Given the description of an element on the screen output the (x, y) to click on. 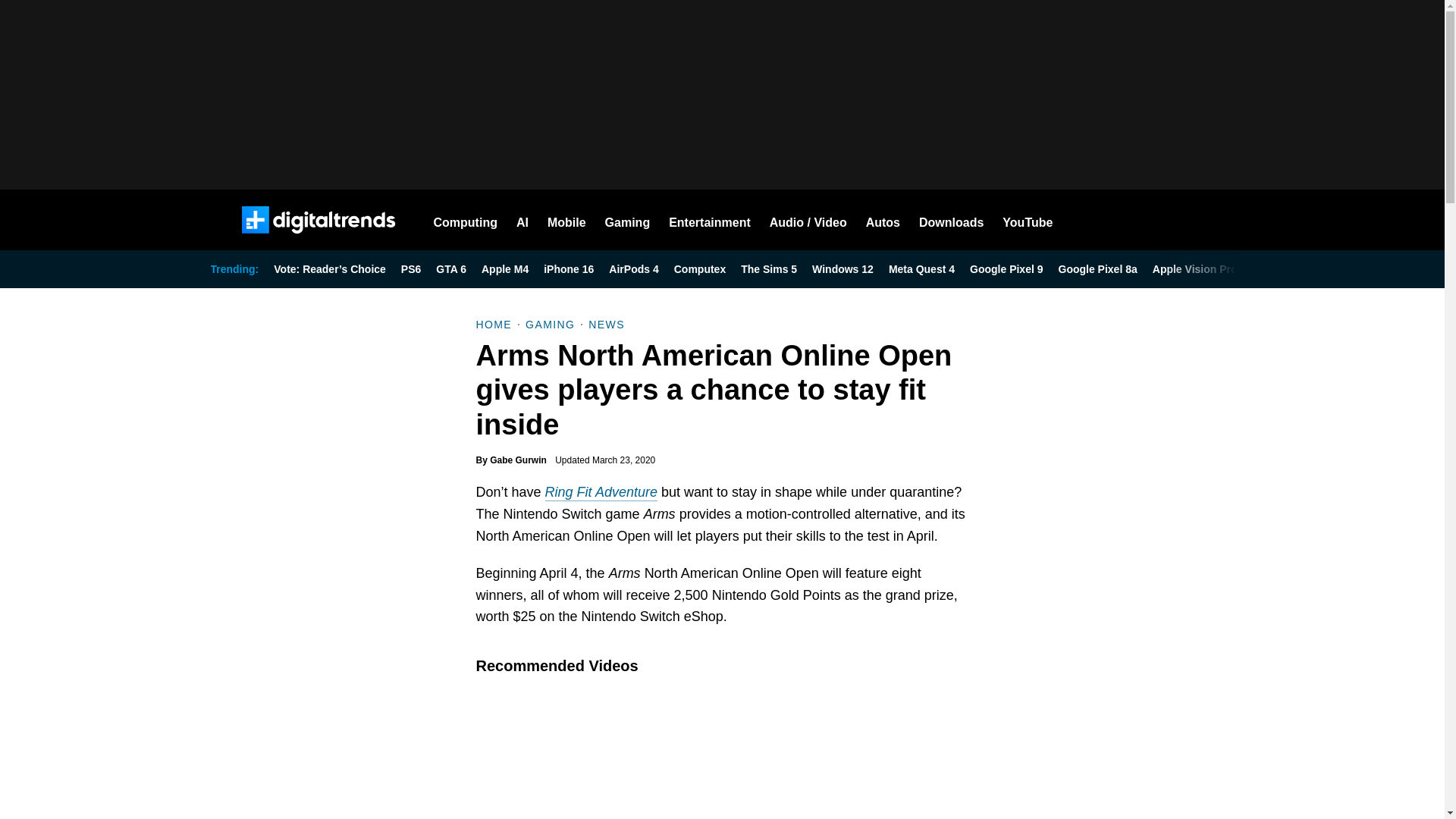
Entertainment (709, 219)
Downloads (951, 219)
Computing (465, 219)
